Given the description of an element on the screen output the (x, y) to click on. 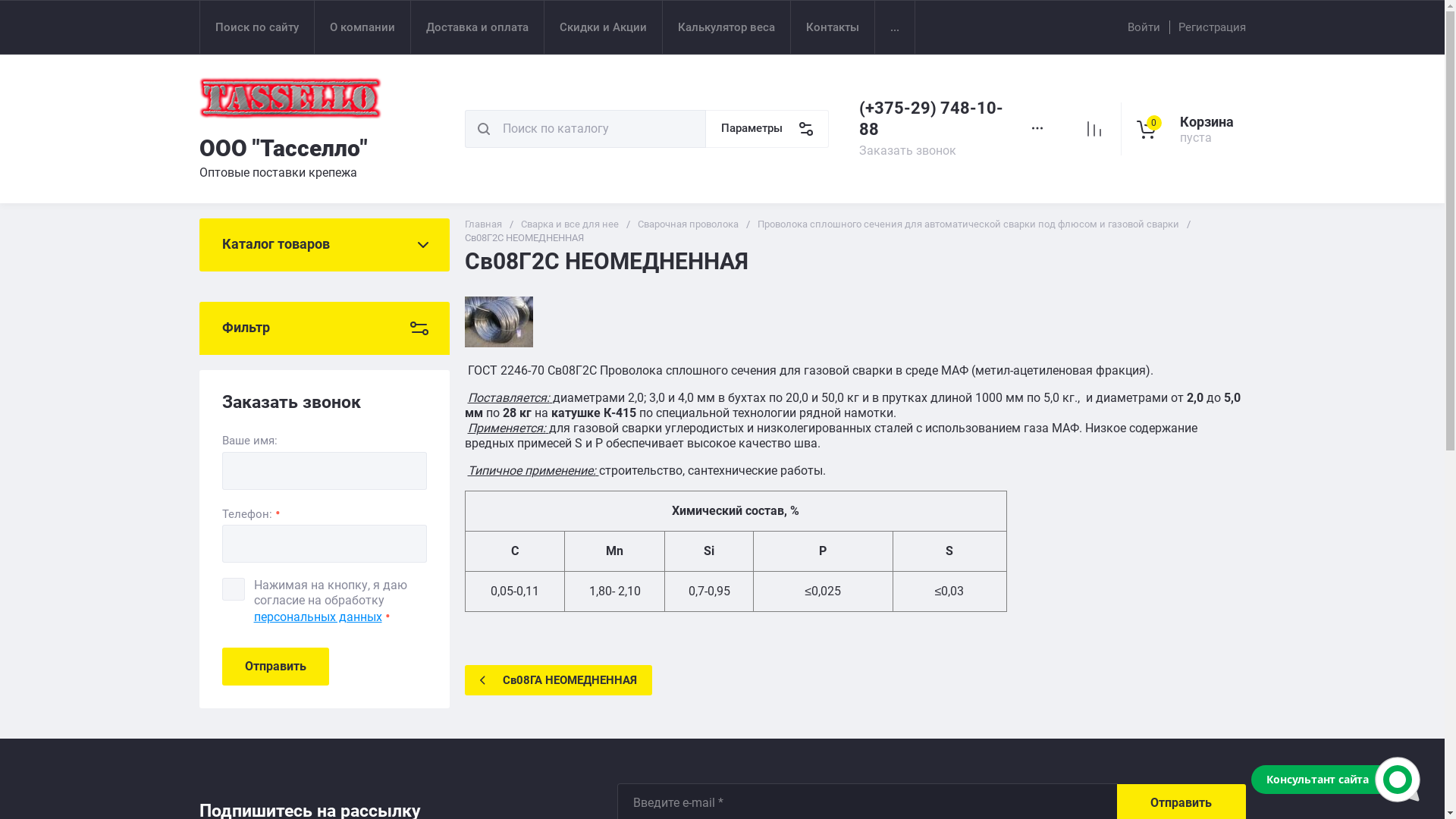
... Element type: text (895, 26)
(+375-29) 748-10-88 Element type: text (930, 118)
